Given the description of an element on the screen output the (x, y) to click on. 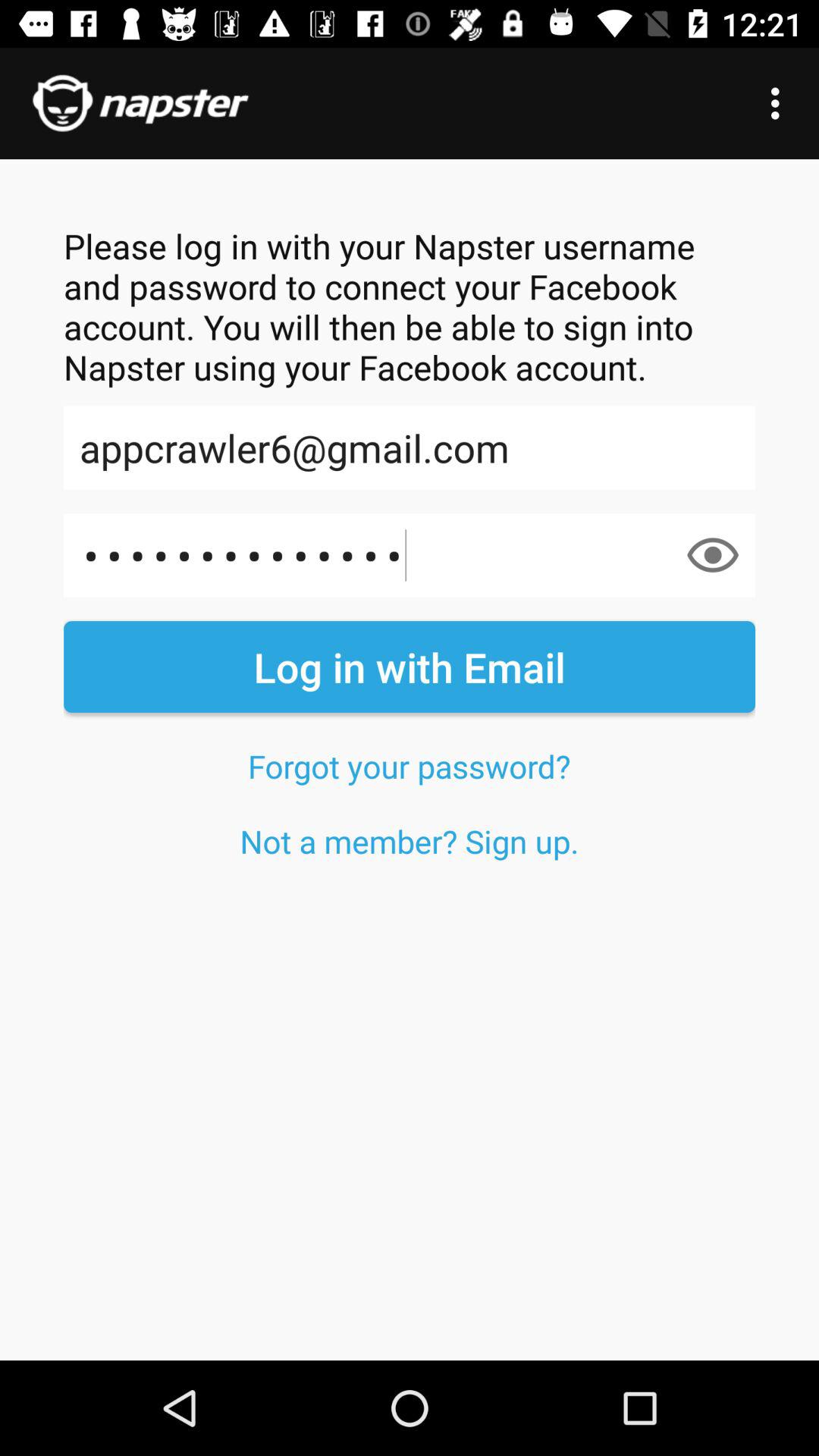
tap icon on the right (712, 555)
